Given the description of an element on the screen output the (x, y) to click on. 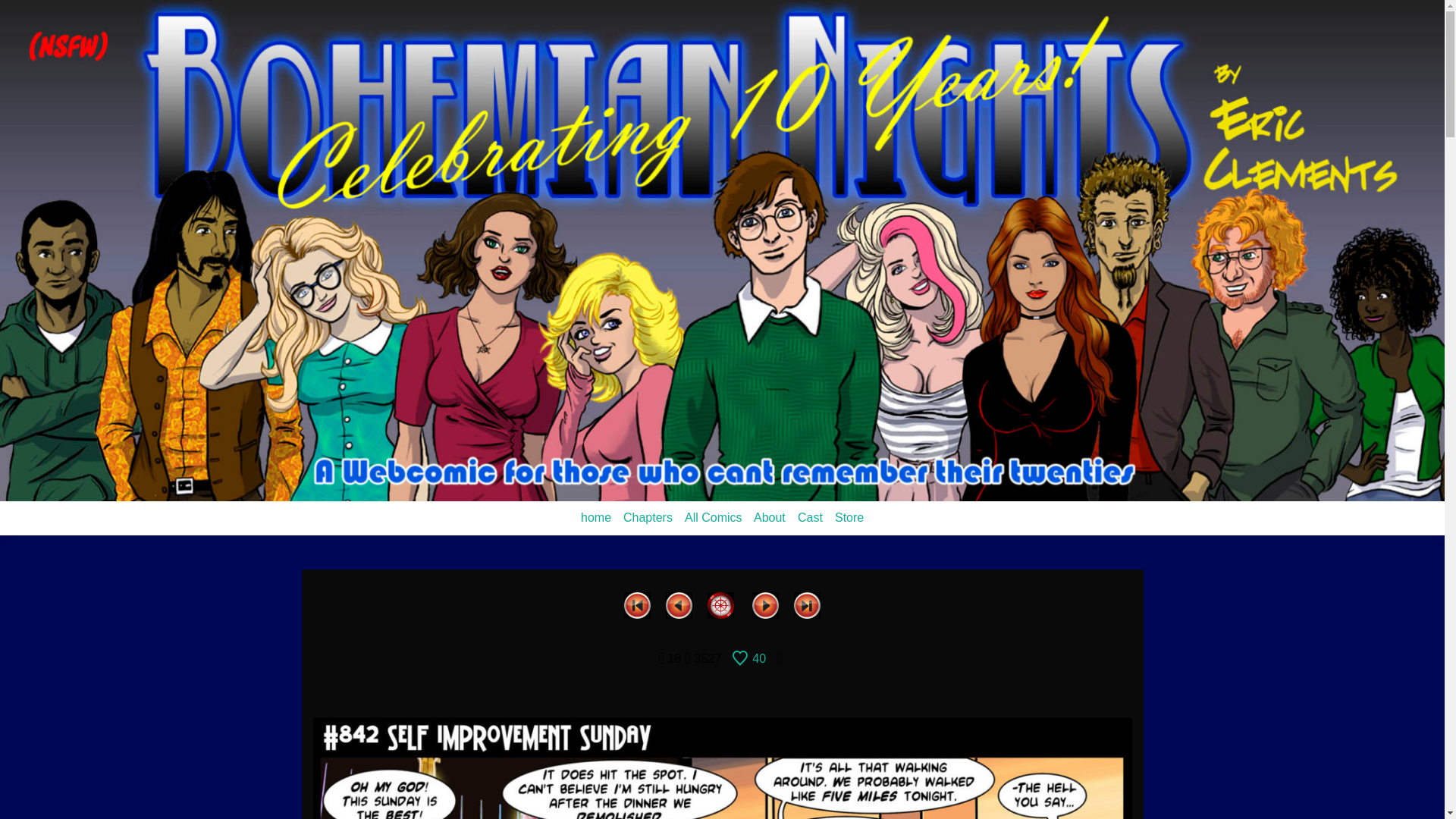
Chapters (647, 517)
Chapters (647, 517)
Cast (810, 517)
And so it Begins... (637, 602)
Random Comic (720, 602)
1010 Family Portrait (807, 602)
Store (848, 517)
All Comics (713, 517)
Store (848, 517)
About (770, 517)
home (596, 517)
All Comics (713, 517)
About (770, 517)
home (596, 517)
Cast (810, 517)
